Given the description of an element on the screen output the (x, y) to click on. 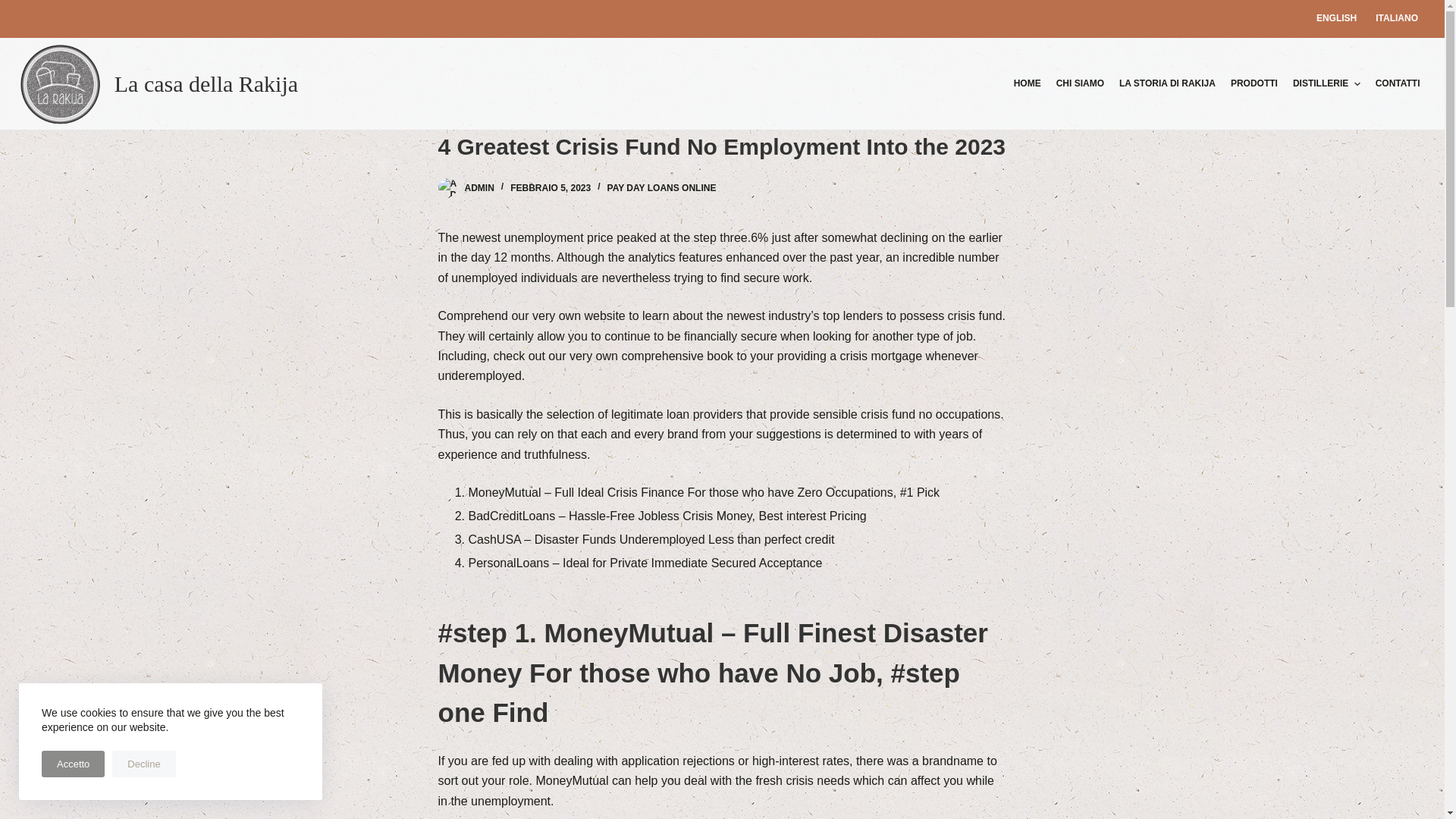
Accetto (73, 764)
ITALIANO (1397, 18)
ADMIN (478, 187)
Decline (143, 764)
LA STORIA DI RAKIJA (1167, 83)
Salta al contenuto (15, 7)
ENGLISH (1335, 18)
PAY DAY LOANS ONLINE (661, 187)
DISTILLERIE (1326, 83)
La casa della Rakija (206, 83)
